Given the description of an element on the screen output the (x, y) to click on. 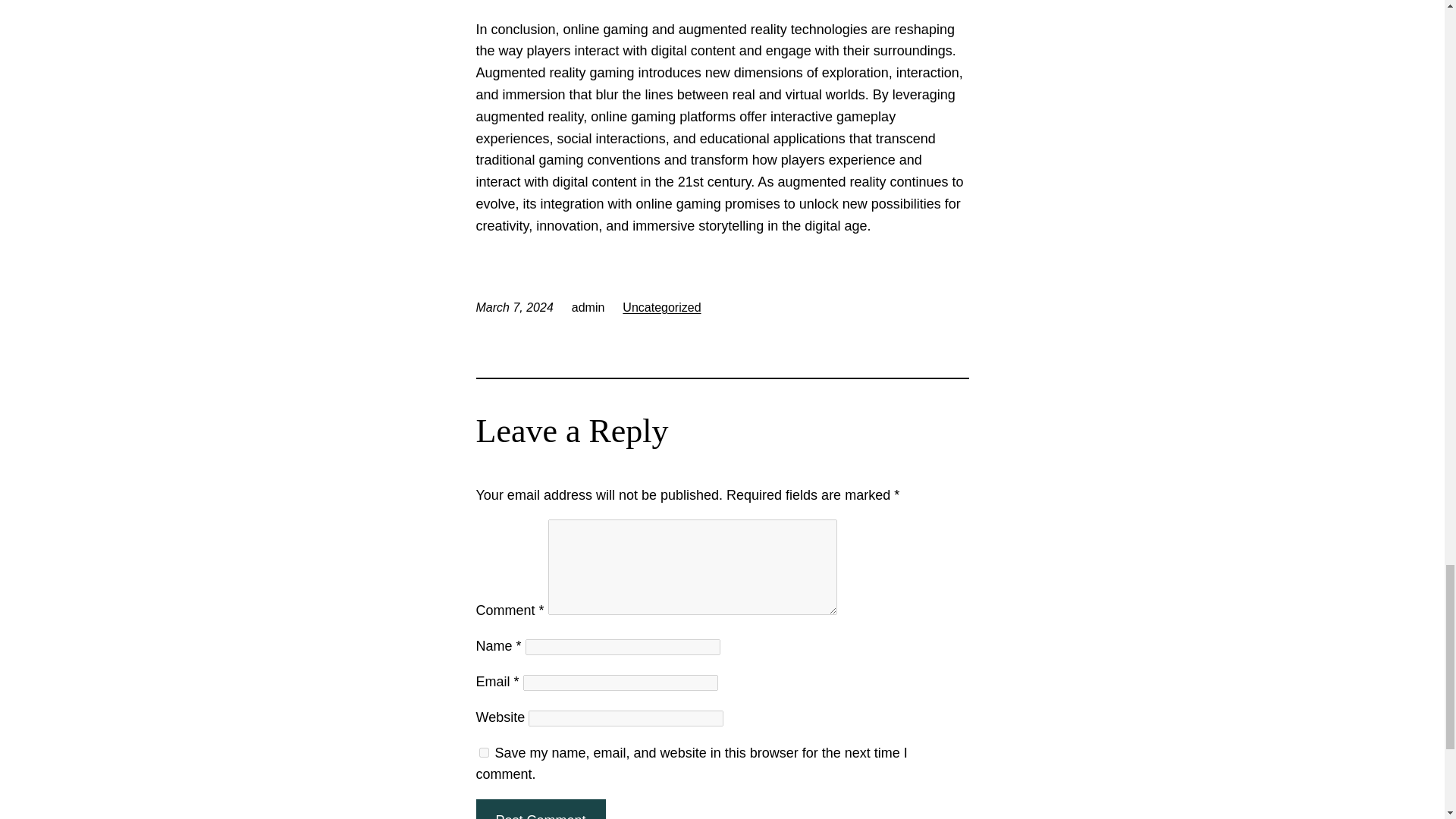
Post Comment (540, 809)
Post Comment (540, 809)
Uncategorized (661, 306)
yes (484, 752)
